Given the description of an element on the screen output the (x, y) to click on. 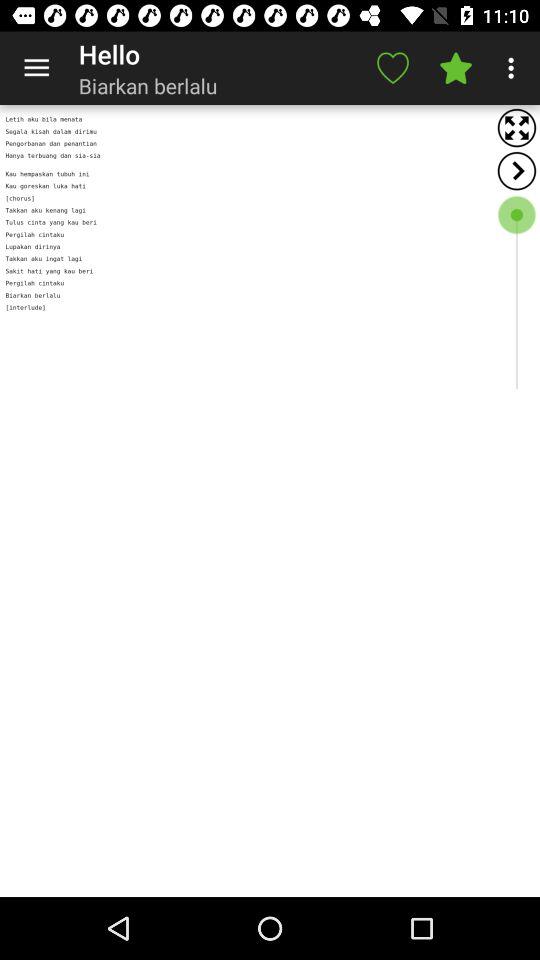
back (516, 170)
